Given the description of an element on the screen output the (x, y) to click on. 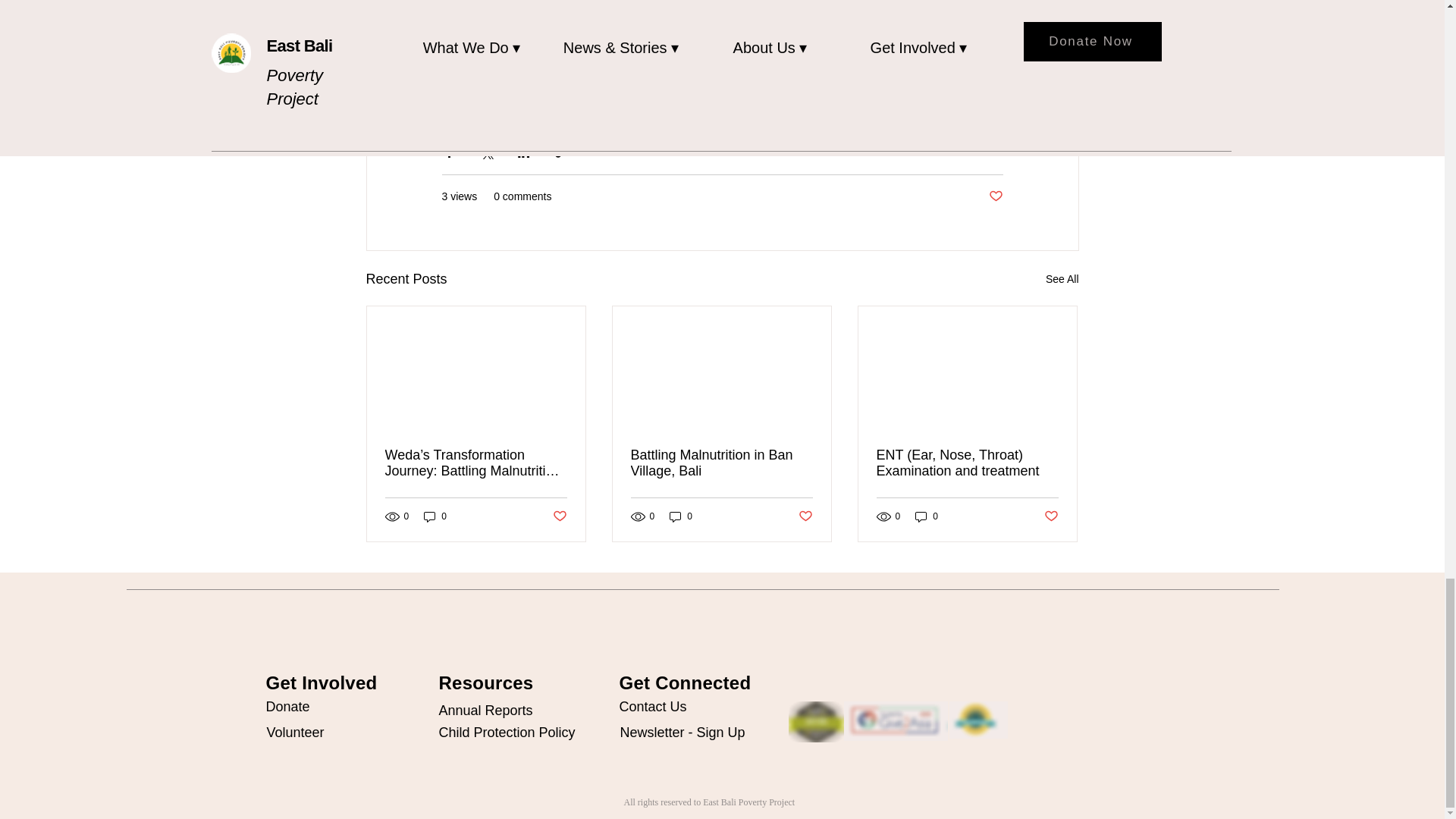
Post not marked as liked (995, 196)
See All (1061, 279)
logo2.PNG (895, 721)
Health (987, 151)
logo3.PNG (978, 719)
Battling Malnutrition in Ban Village, Bali (721, 463)
0 (435, 516)
logo1.PNG (816, 721)
Post not marked as liked (558, 516)
